Given the description of an element on the screen output the (x, y) to click on. 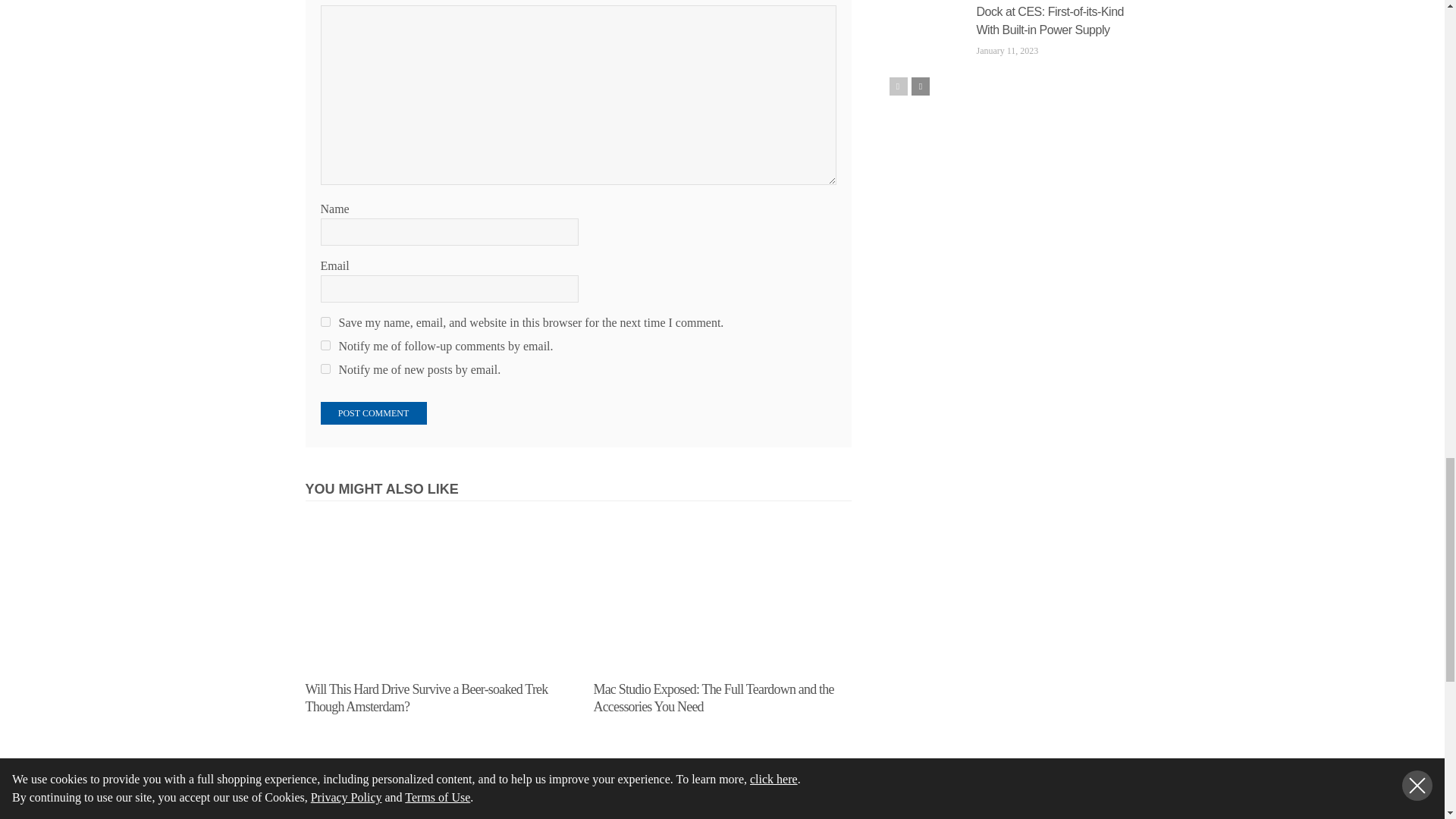
subscribe (325, 345)
yes (325, 321)
Post Comment (373, 413)
subscribe (325, 368)
